Given the description of an element on the screen output the (x, y) to click on. 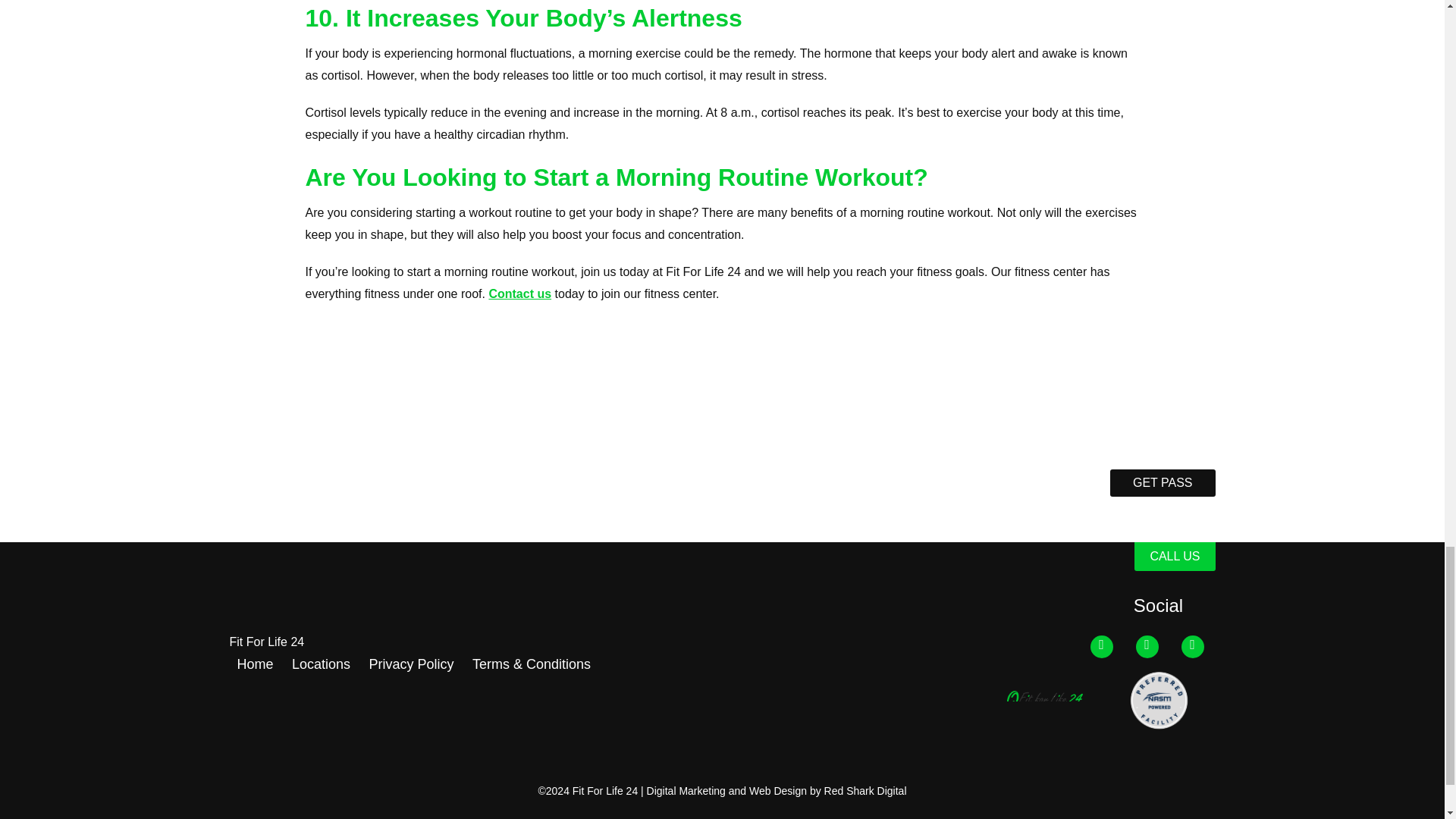
Twitter (1146, 646)
Contact us (519, 294)
Home (254, 666)
Instagram (1192, 646)
Fit For Life 24 (266, 642)
GET PASS (1162, 482)
Facebook (1101, 646)
Locations (321, 666)
